Given the description of an element on the screen output the (x, y) to click on. 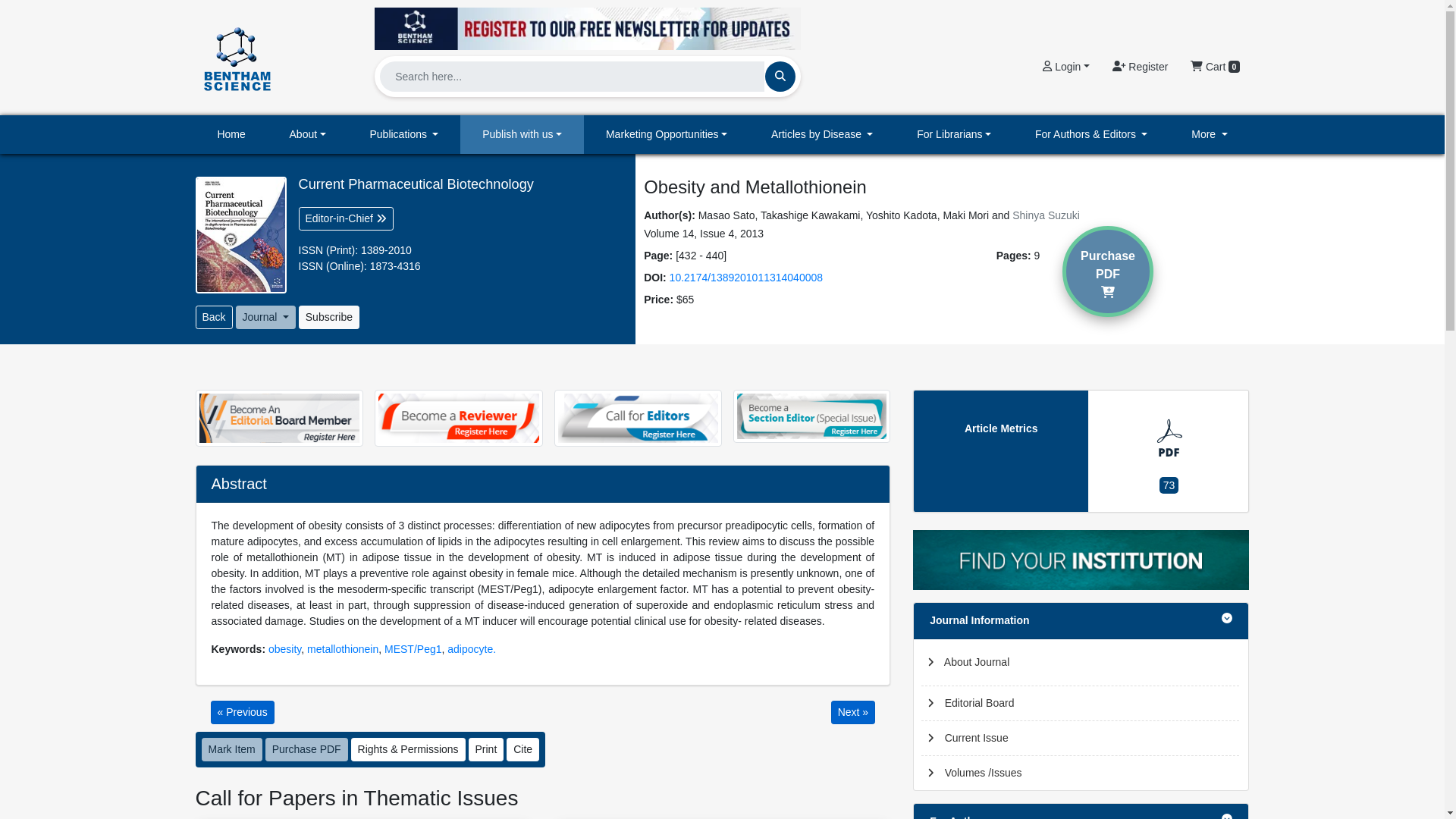
newsletter banner (587, 24)
Cart 0 (1214, 67)
Search Button (779, 76)
Home (231, 134)
Register (1139, 67)
About (307, 134)
Login (1065, 67)
newsletter banner (587, 28)
Publications (404, 134)
